Given the description of an element on the screen output the (x, y) to click on. 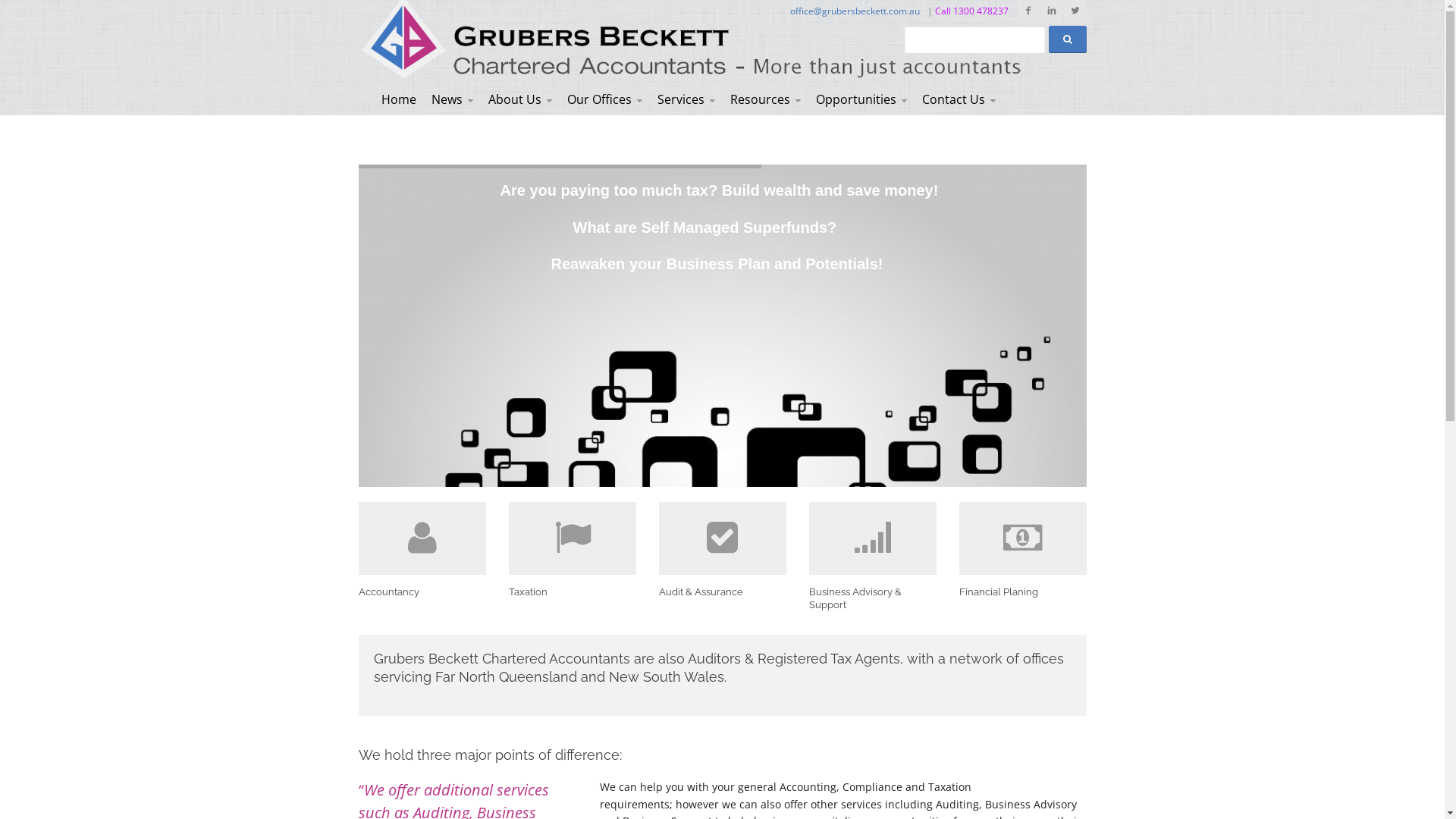
Audit & Assurance Element type: text (721, 549)
Resources Element type: text (764, 99)
Reawaken your Business Plan and Potentials! Element type: text (716, 263)
What are Self Managed Superfunds? Element type: text (705, 227)
office@grubersbeckett.com.au Element type: text (854, 10)
Our Offices Element type: text (604, 99)
Opportunities Element type: text (861, 99)
Financial Planing Element type: text (1021, 549)
Business Advisory & Support Element type: text (871, 556)
Send Element type: text (835, 412)
News Element type: text (451, 99)
Accountancy Element type: text (421, 549)
Taxation Element type: text (571, 549)
Are you paying too much tax? Build wealth and save money! Element type: text (719, 190)
Home Element type: text (398, 99)
About Us Element type: text (519, 99)
Contact Us Element type: text (958, 99)
Services Element type: text (685, 99)
